Given the description of an element on the screen output the (x, y) to click on. 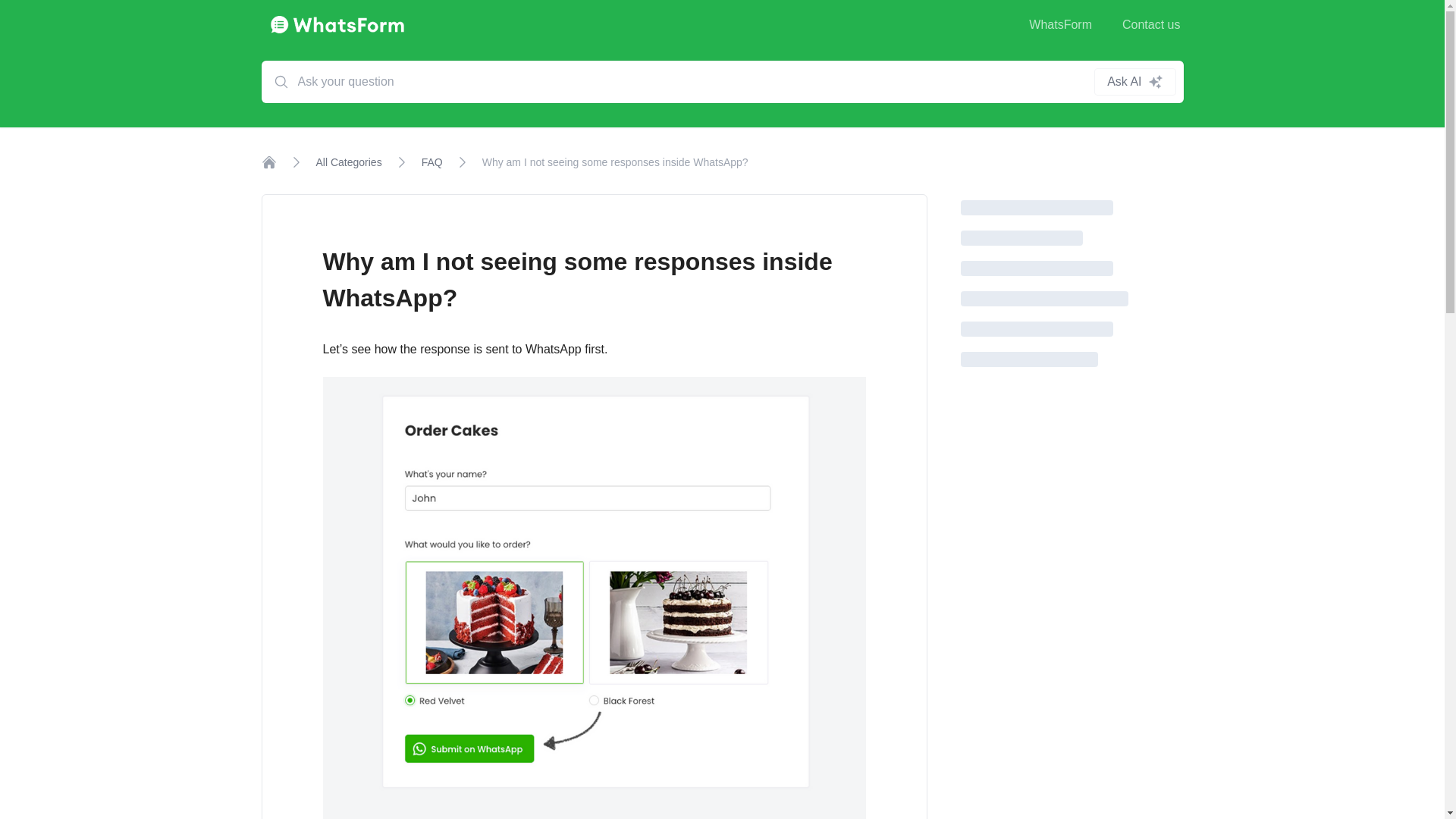
WhatsForm (1060, 24)
FAQ (432, 161)
All Categories (348, 161)
Contact us (1150, 24)
Home (268, 161)
